Given the description of an element on the screen output the (x, y) to click on. 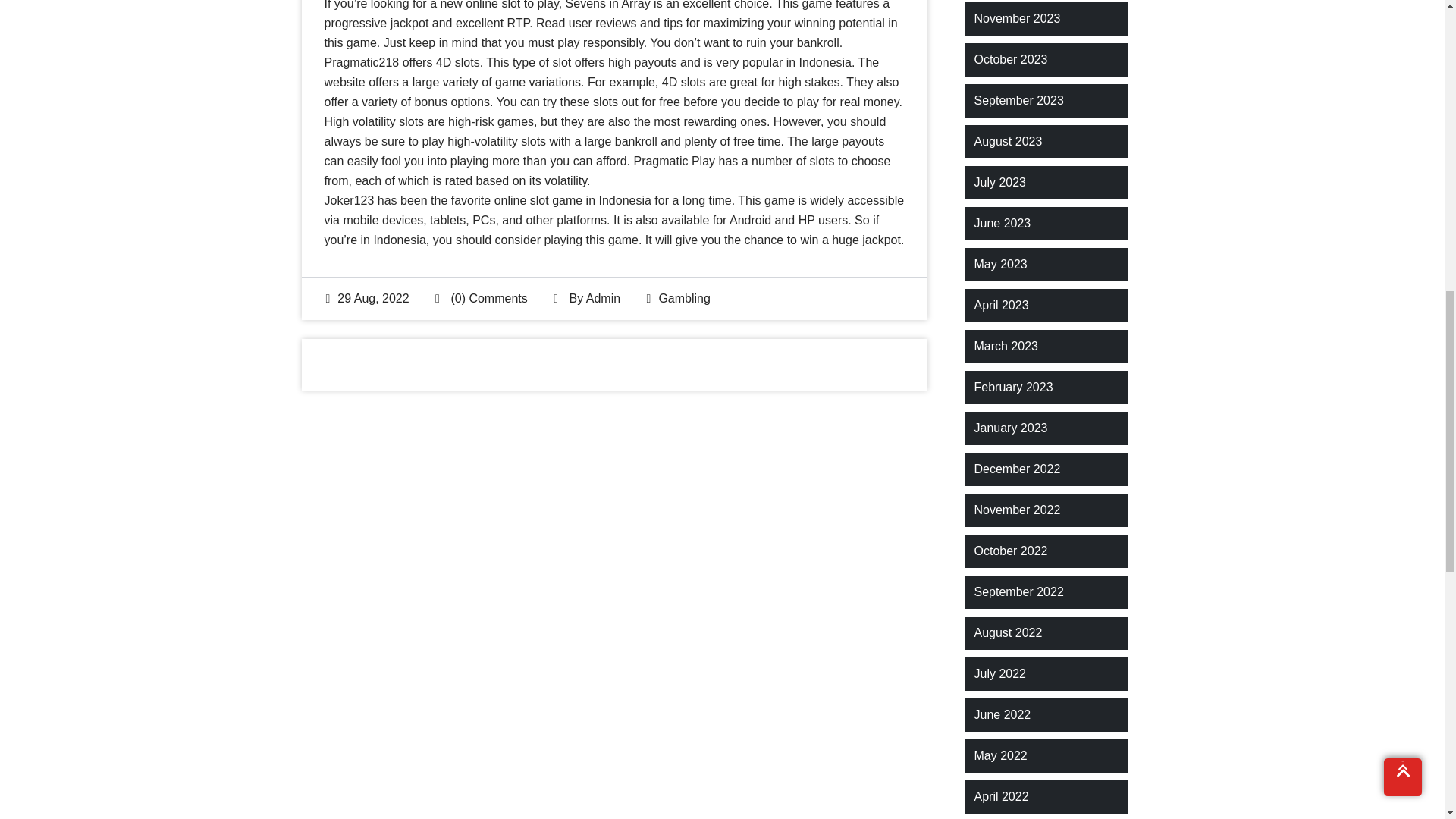
October 2022 (1010, 551)
January 2023 (1010, 428)
July 2022 (1000, 674)
April 2023 (1000, 305)
September 2023 (1018, 100)
October 2023 (1010, 59)
July 2023 (1000, 182)
Gambling (684, 297)
Admin (603, 297)
June 2023 (1002, 223)
